Given the description of an element on the screen output the (x, y) to click on. 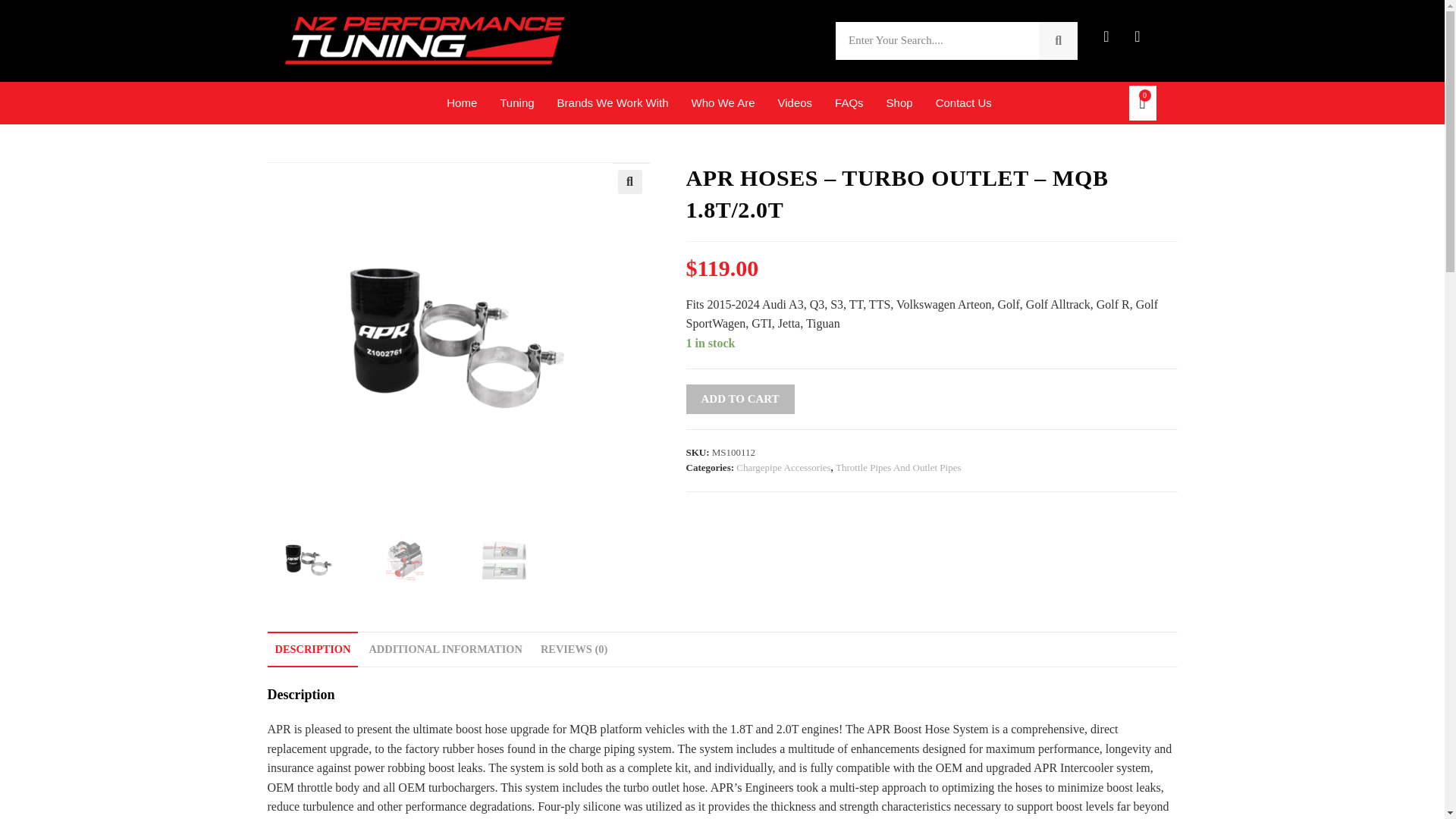
Home (461, 102)
FAQs (848, 102)
Throttle Pipes And Outlet Pipes (897, 467)
Contact Us (963, 102)
2020 (1109, 24)
Brands We Work With (612, 102)
Videos (794, 102)
ADD TO CART (739, 399)
DESCRIPTION (312, 649)
Who We Are (723, 102)
1 (439, 334)
Chargepipe Accessories (782, 467)
ADDITIONAL INFORMATION (445, 649)
Search (937, 40)
Shop (899, 102)
